Given the description of an element on the screen output the (x, y) to click on. 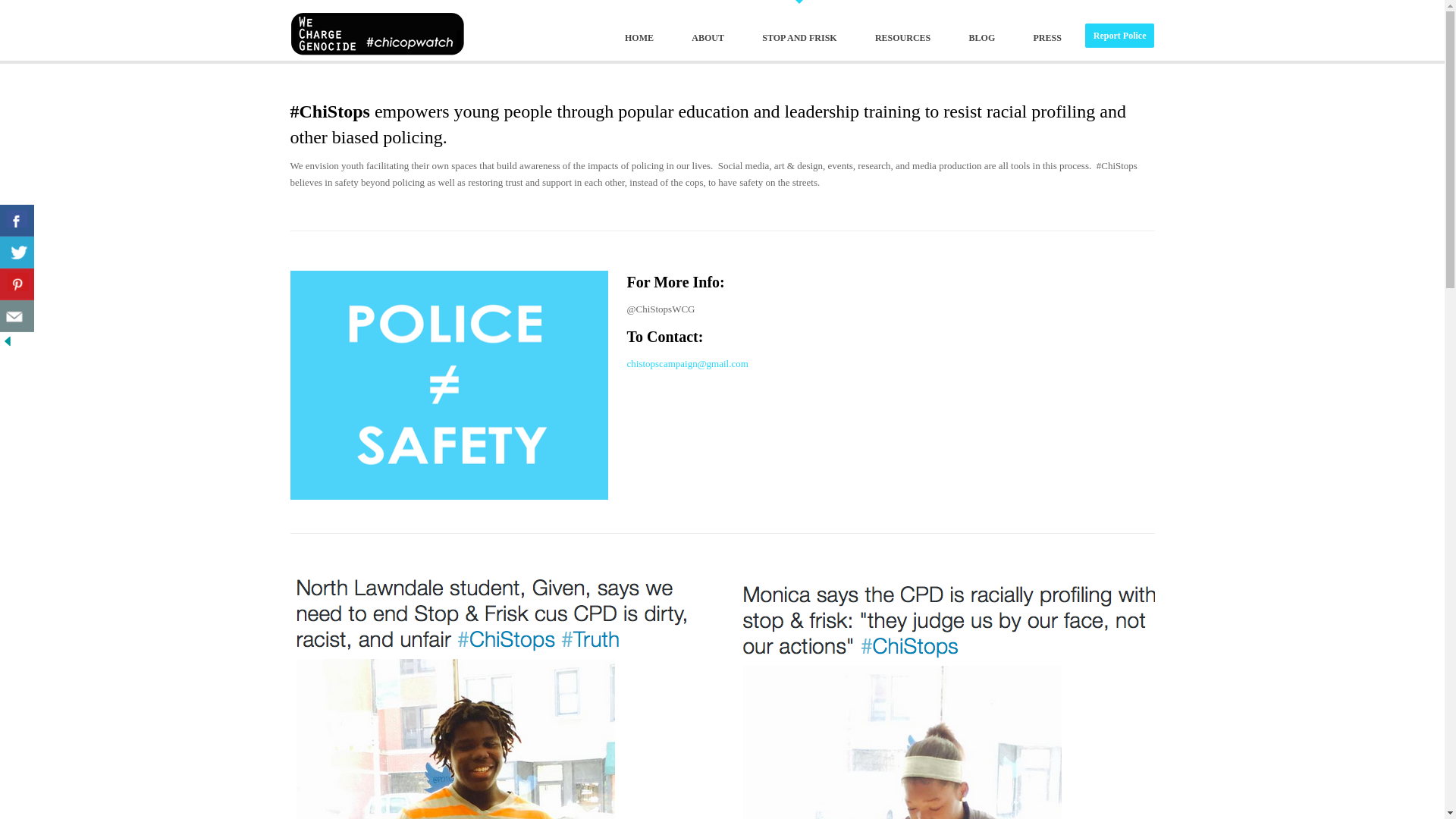
Hide Buttons (7, 339)
STOP AND FRISK (798, 38)
We Charge Genocide (376, 30)
Report Police (1119, 35)
RESOURCES (902, 38)
Share On Twitter (16, 252)
Share On Facebook (16, 220)
Contact us (16, 316)
Share On Pinterest (16, 284)
